Given the description of an element on the screen output the (x, y) to click on. 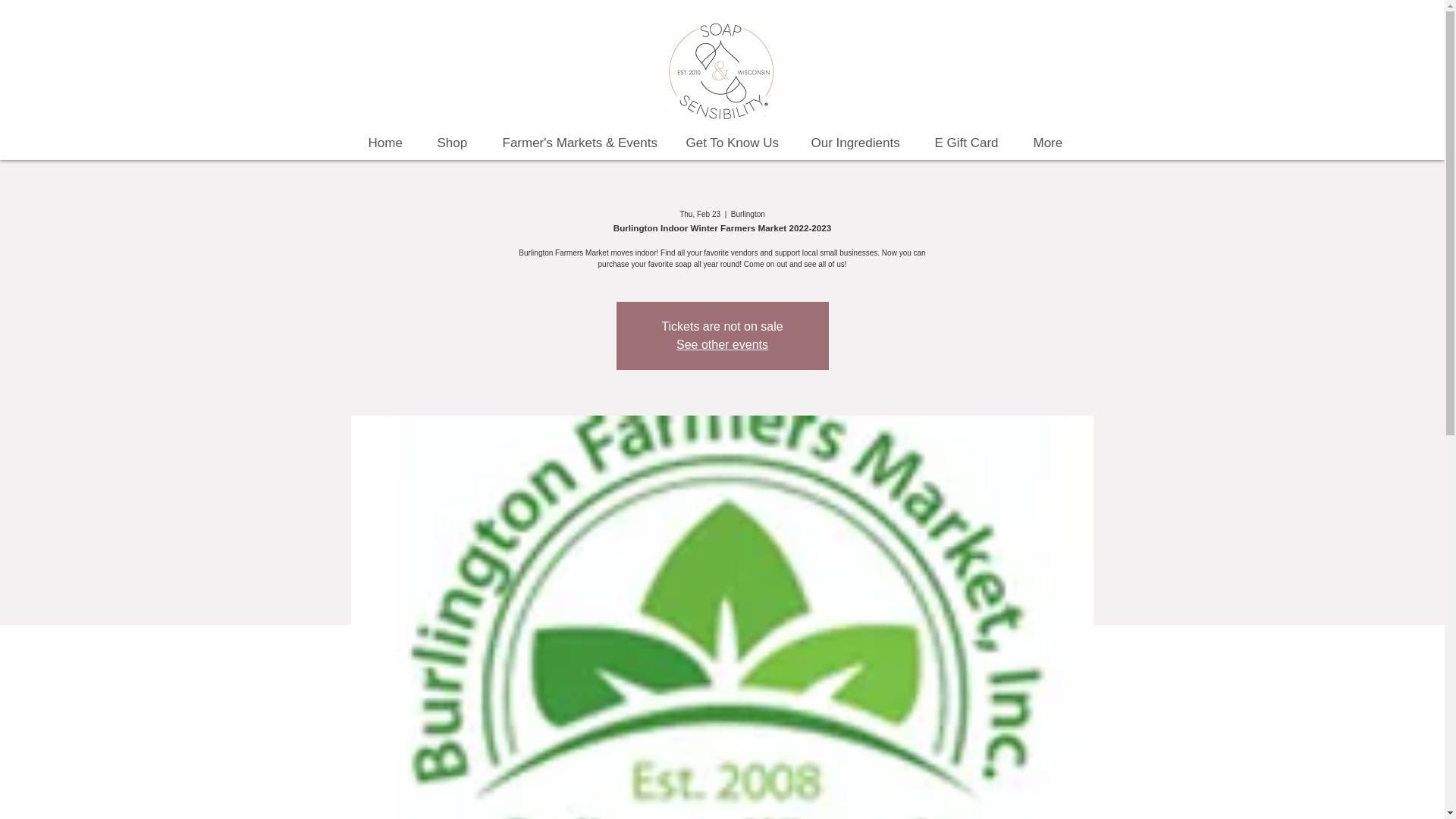
E Gift Card (972, 142)
Get To Know Us (737, 142)
Home (390, 142)
See other events (722, 344)
Our Ingredients (861, 142)
